Given the description of an element on the screen output the (x, y) to click on. 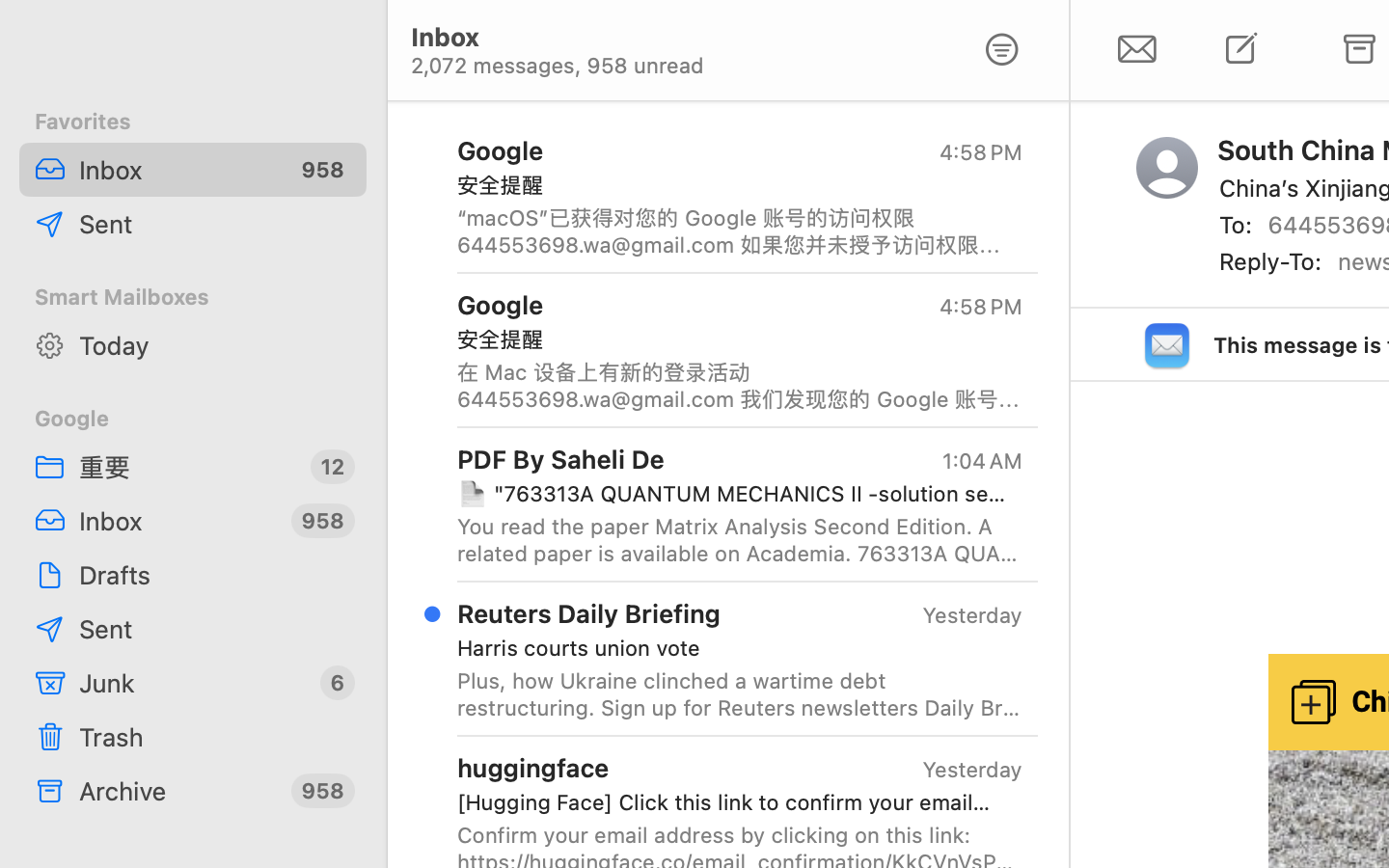
Favorites Element type: AXStaticText (192, 121)
4:58 PM Element type: AXStaticText (980, 151)
Archive Element type: AXStaticText (177, 790)
Sent Element type: AXStaticText (214, 223)
安全提醒 Element type: AXStaticText (731, 184)
